Given the description of an element on the screen output the (x, y) to click on. 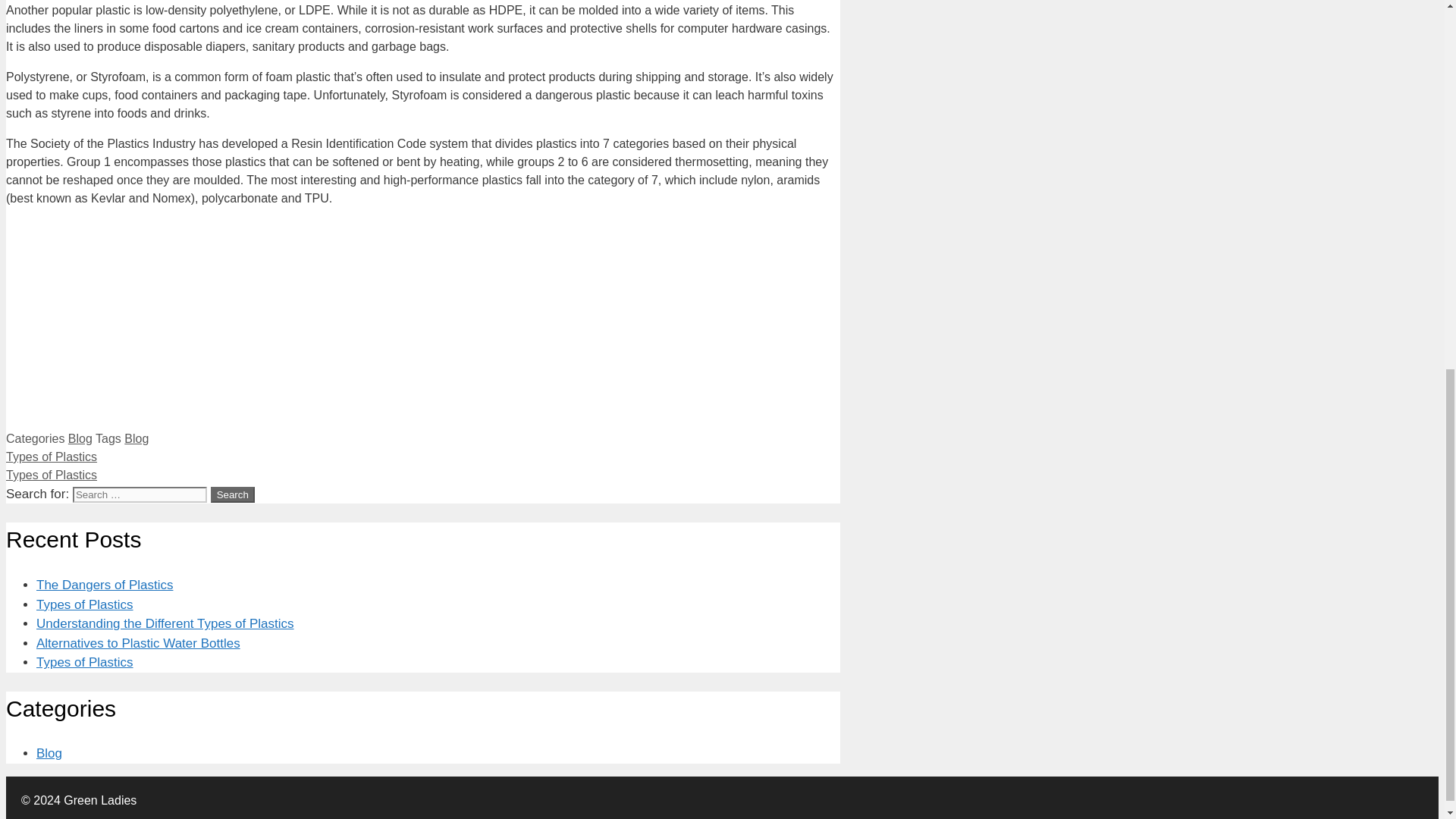
Alternatives to Plastic Water Bottles (138, 643)
The Dangers of Plastics (104, 585)
Understanding the Different Types of Plastics (165, 623)
Types of Plastics (84, 604)
Blog (135, 438)
Search (232, 494)
Blog (80, 438)
Types of Plastics (51, 456)
Types of Plastics (51, 474)
Search for: (139, 494)
Search (232, 494)
Blog (49, 753)
Types of Plastics (84, 662)
Search (232, 494)
